Given the description of an element on the screen output the (x, y) to click on. 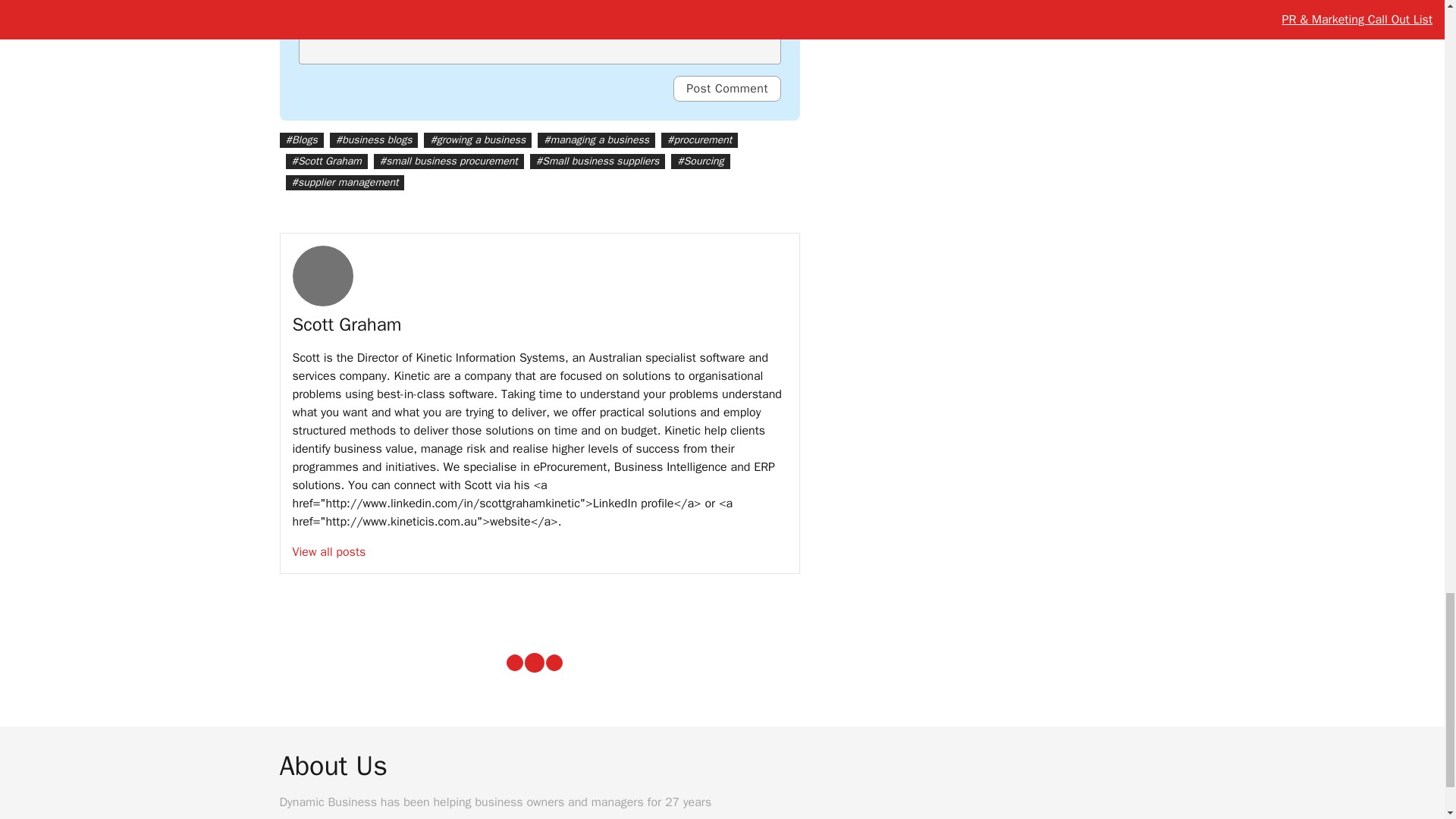
Post Comment (726, 88)
